Given the description of an element on the screen output the (x, y) to click on. 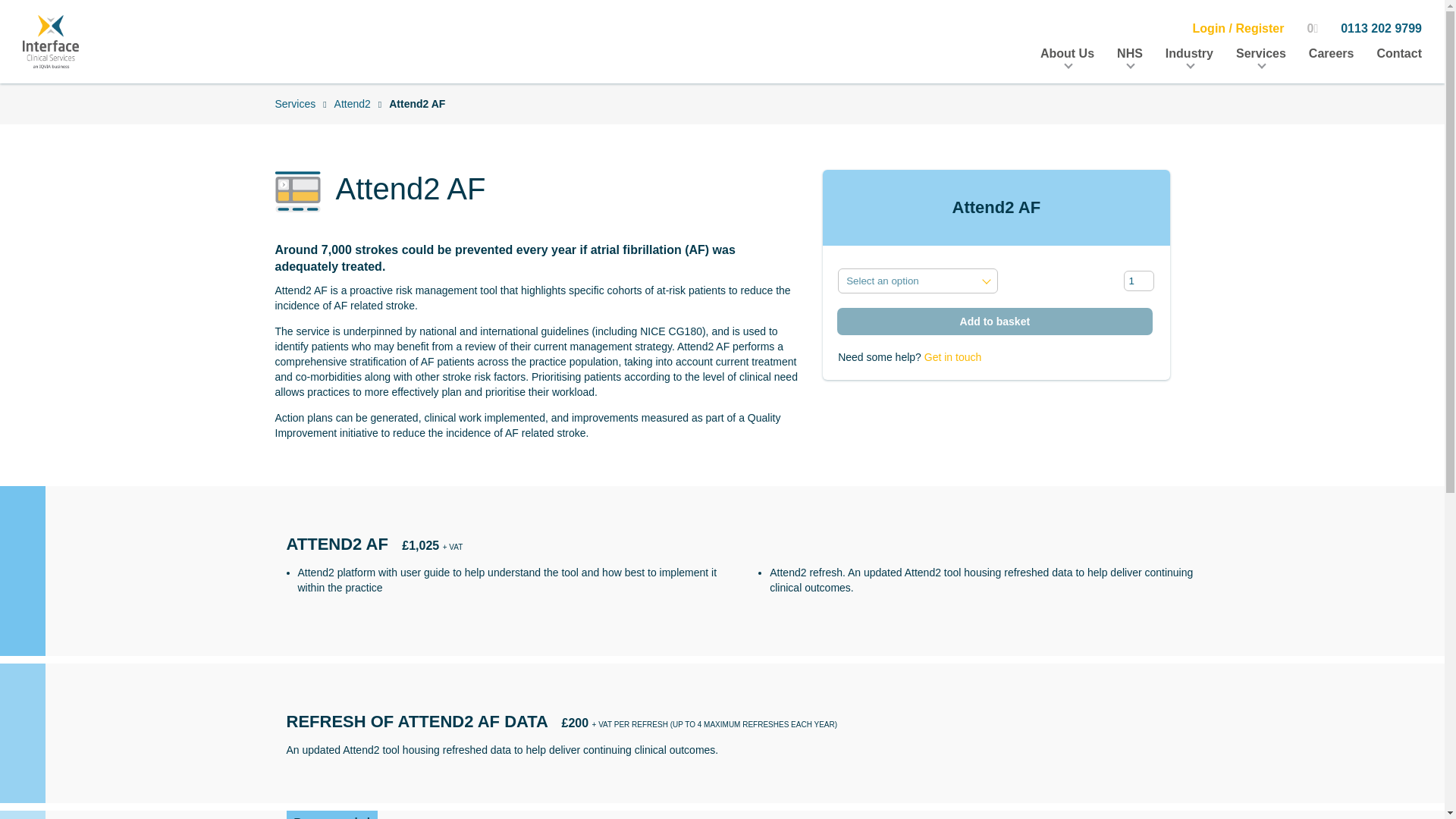
Disease Prevalence Quality Improvement Programme (914, 103)
Services (295, 103)
Therapy Reviews (603, 103)
0113 202 9799 (1381, 28)
Services (1260, 52)
Market Access (518, 103)
Data Analysis (783, 103)
Get in touch (952, 357)
Find out more (1353, 663)
Data Services (630, 103)
Add to basket (994, 321)
Quality Assurance (620, 103)
Careers (1331, 52)
Meet The Directors (756, 103)
QOF Disease Prevalence (453, 103)
